Given the description of an element on the screen output the (x, y) to click on. 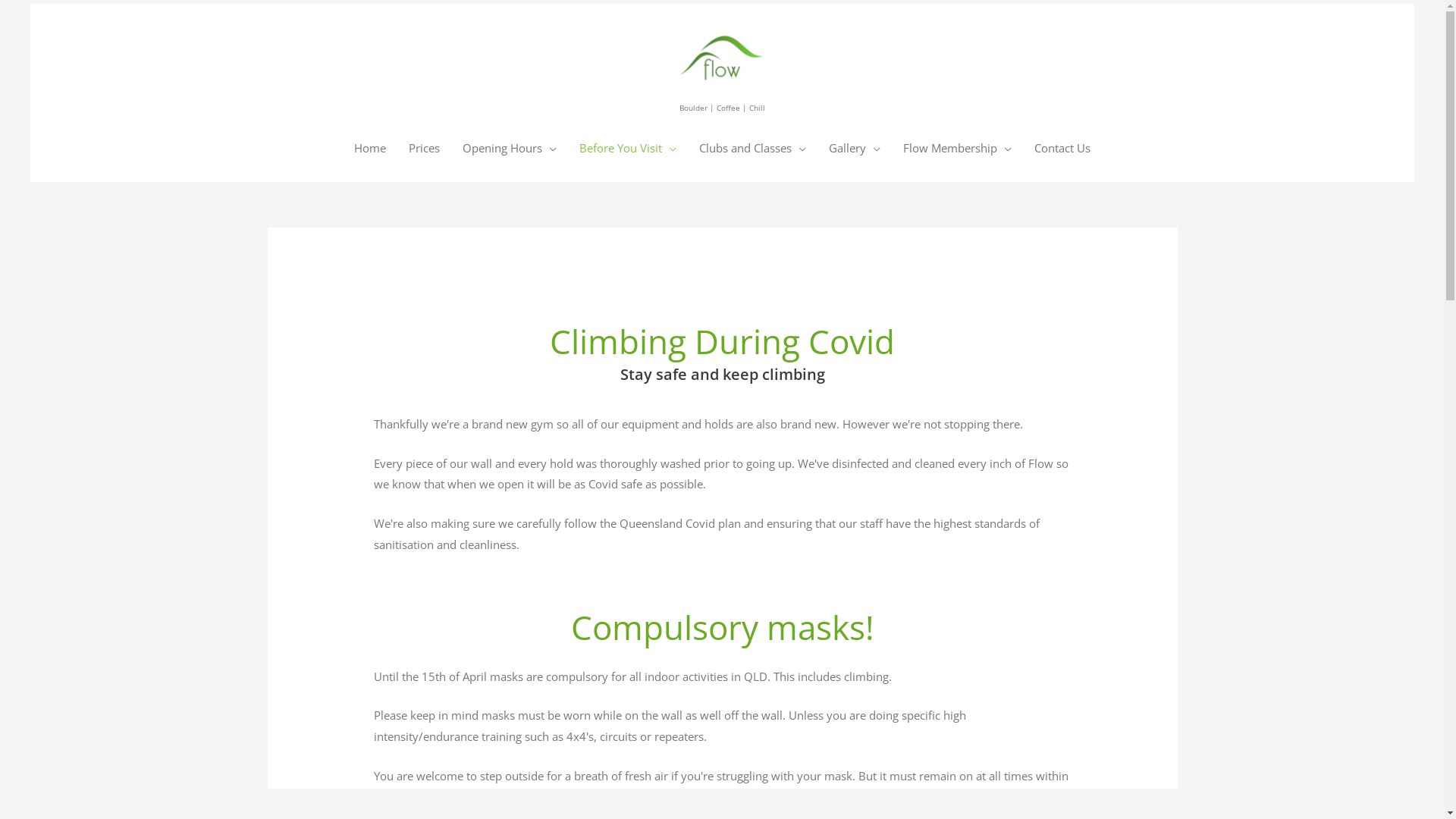
Gallery Element type: text (854, 147)
Contact Us Element type: text (1061, 147)
Flow Membership Element type: text (956, 147)
Clubs and Classes Element type: text (752, 147)
Home Element type: text (369, 147)
Opening Hours Element type: text (509, 147)
Before You Visit Element type: text (627, 147)
Prices Element type: text (424, 147)
Skip to content Element type: text (29, 3)
